Given the description of an element on the screen output the (x, y) to click on. 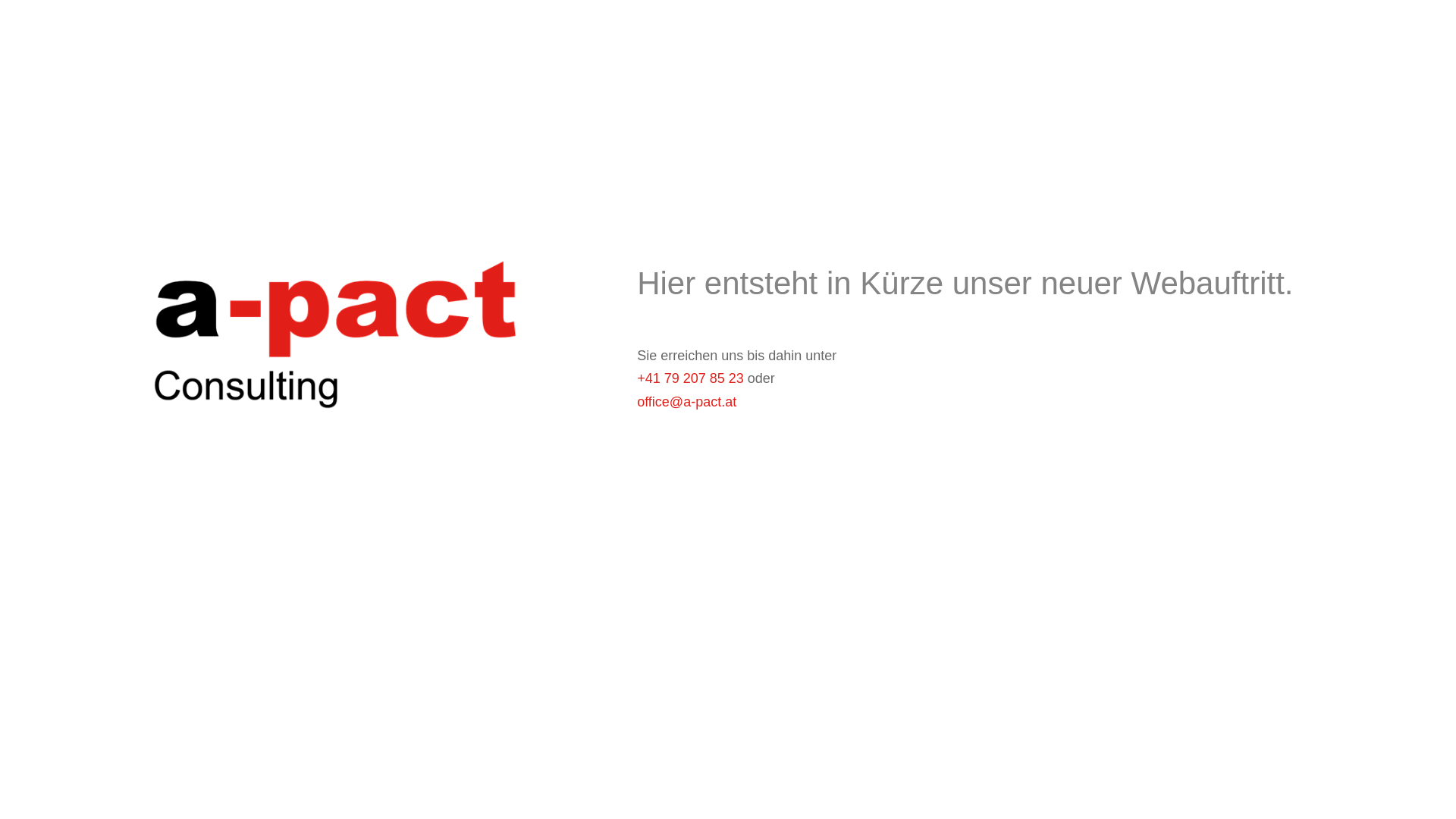
office@a-pact.at Element type: text (686, 401)
a-pact AT Element type: hover (331, 327)
+41 79 207 85 23 Element type: text (690, 377)
